Given the description of an element on the screen output the (x, y) to click on. 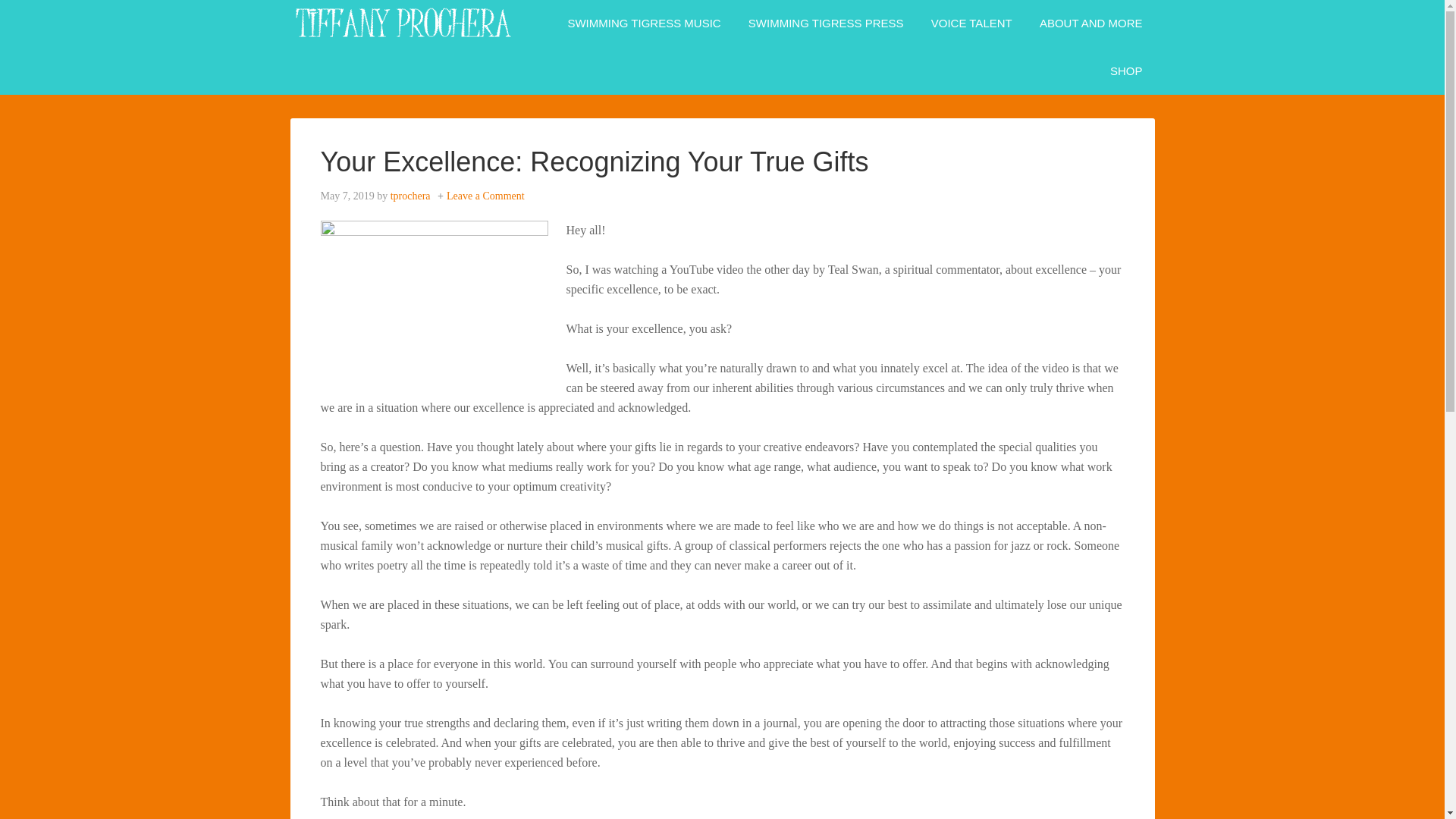
SWIMMING TIGRESS MUSIC (643, 23)
TIFFANYPROCHERA.COM (402, 22)
Leave a Comment (485, 195)
tprochera (410, 195)
Your Excellence: Recognizing Your True Gifts (593, 161)
VOICE TALENT (971, 23)
SWIMMING TIGRESS PRESS (825, 23)
ABOUT AND MORE (1090, 23)
SHOP (1125, 70)
